Given the description of an element on the screen output the (x, y) to click on. 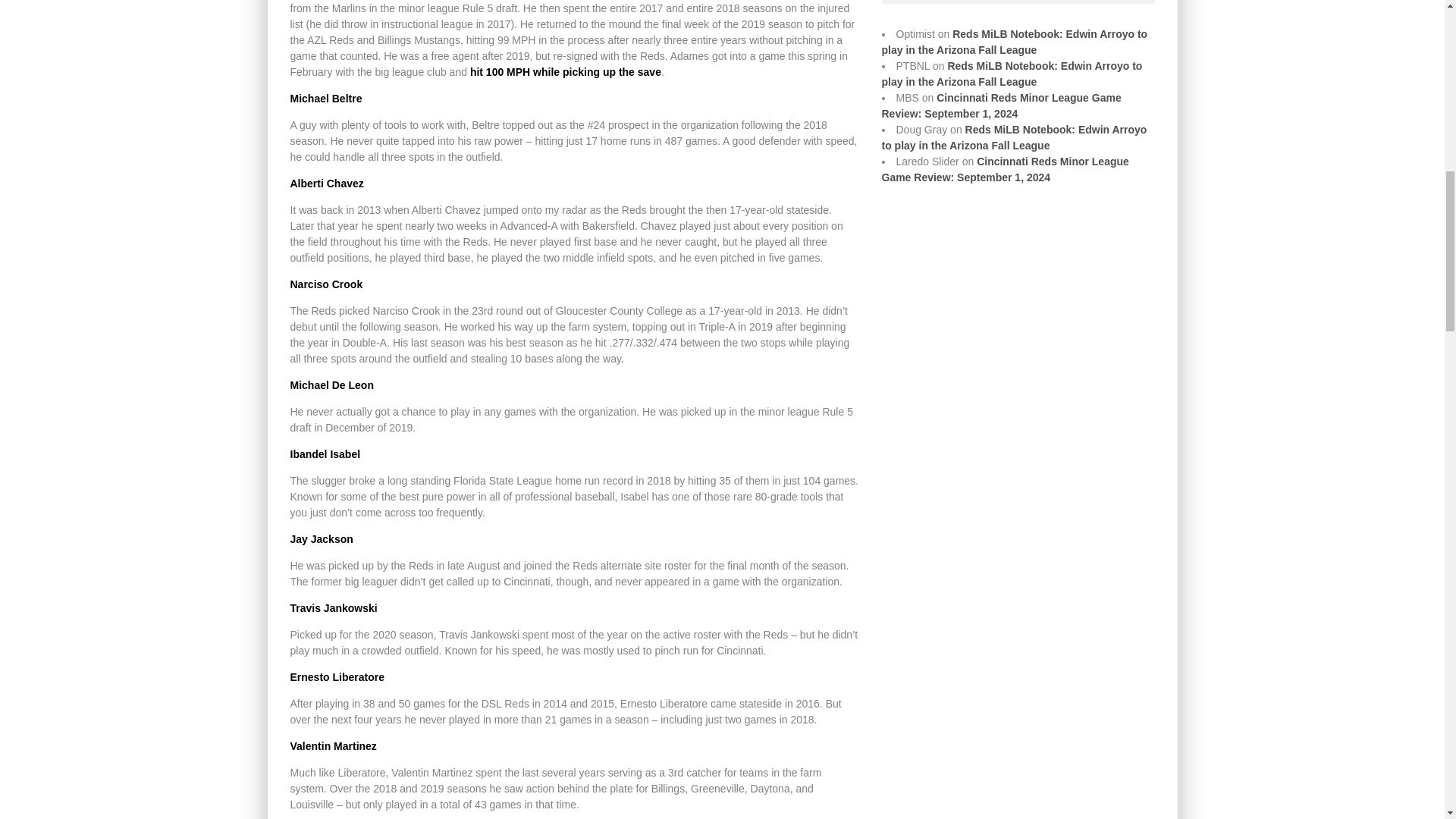
Michael Beltre (325, 98)
hit 100 MPH while picking up the save (565, 71)
Alberti Chavez (325, 183)
